Given the description of an element on the screen output the (x, y) to click on. 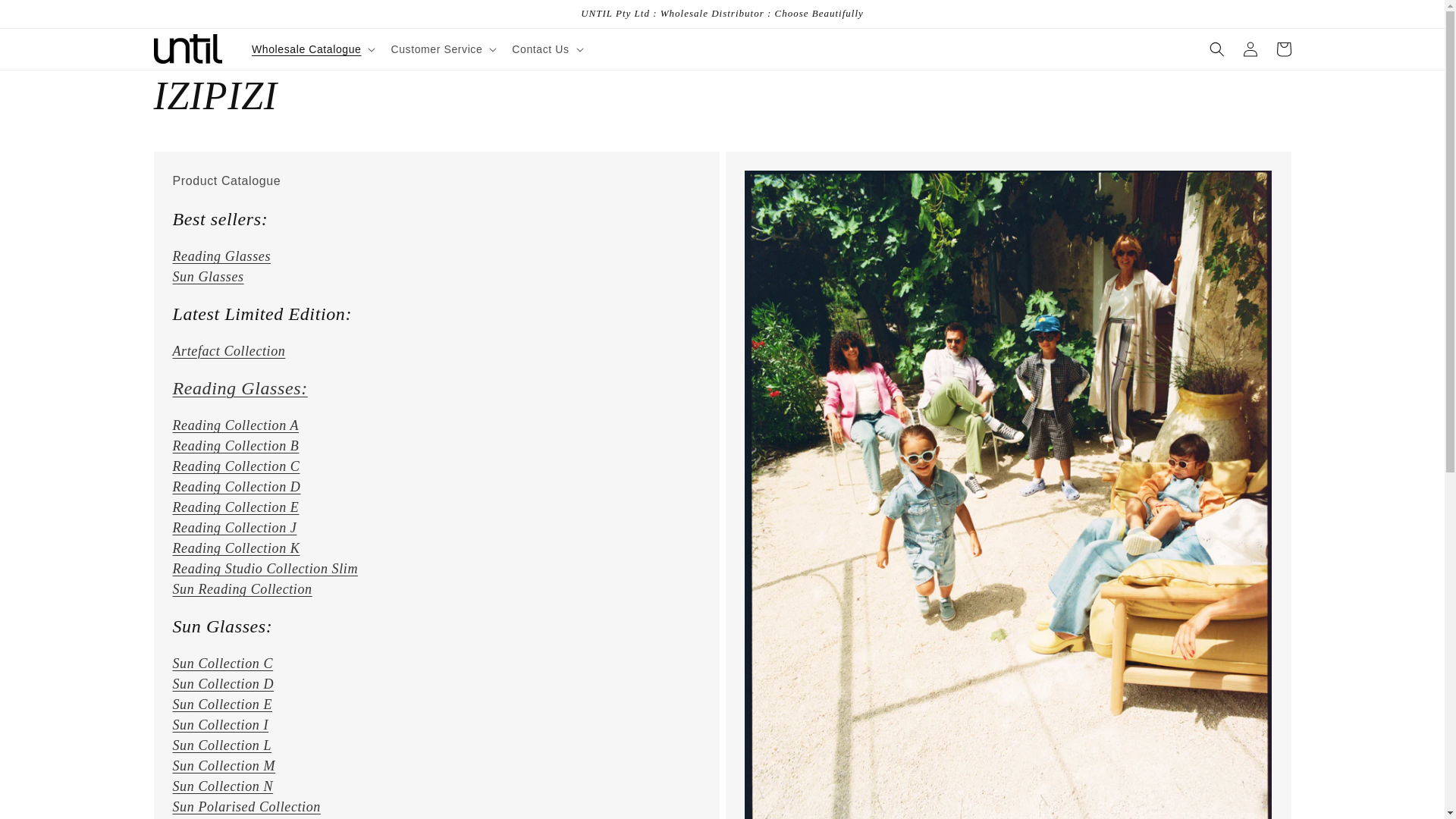
IZIPIZI Best Sellers Readers (221, 255)
IZIPIZI Sun Collection E (223, 703)
IZIPIZI Reading Collection J (235, 527)
IZIPIZI Reading Collection B (236, 445)
IZIPIZI Sun Collection L (222, 744)
IZIPIZI Sun Collection I (221, 724)
IZIPIZI Artefact Collection (240, 388)
IZIPIZI Reading Collection E (236, 507)
Skip to content (45, 17)
IZIPIZI Reading Studio Collection Slim (265, 568)
